Given the description of an element on the screen output the (x, y) to click on. 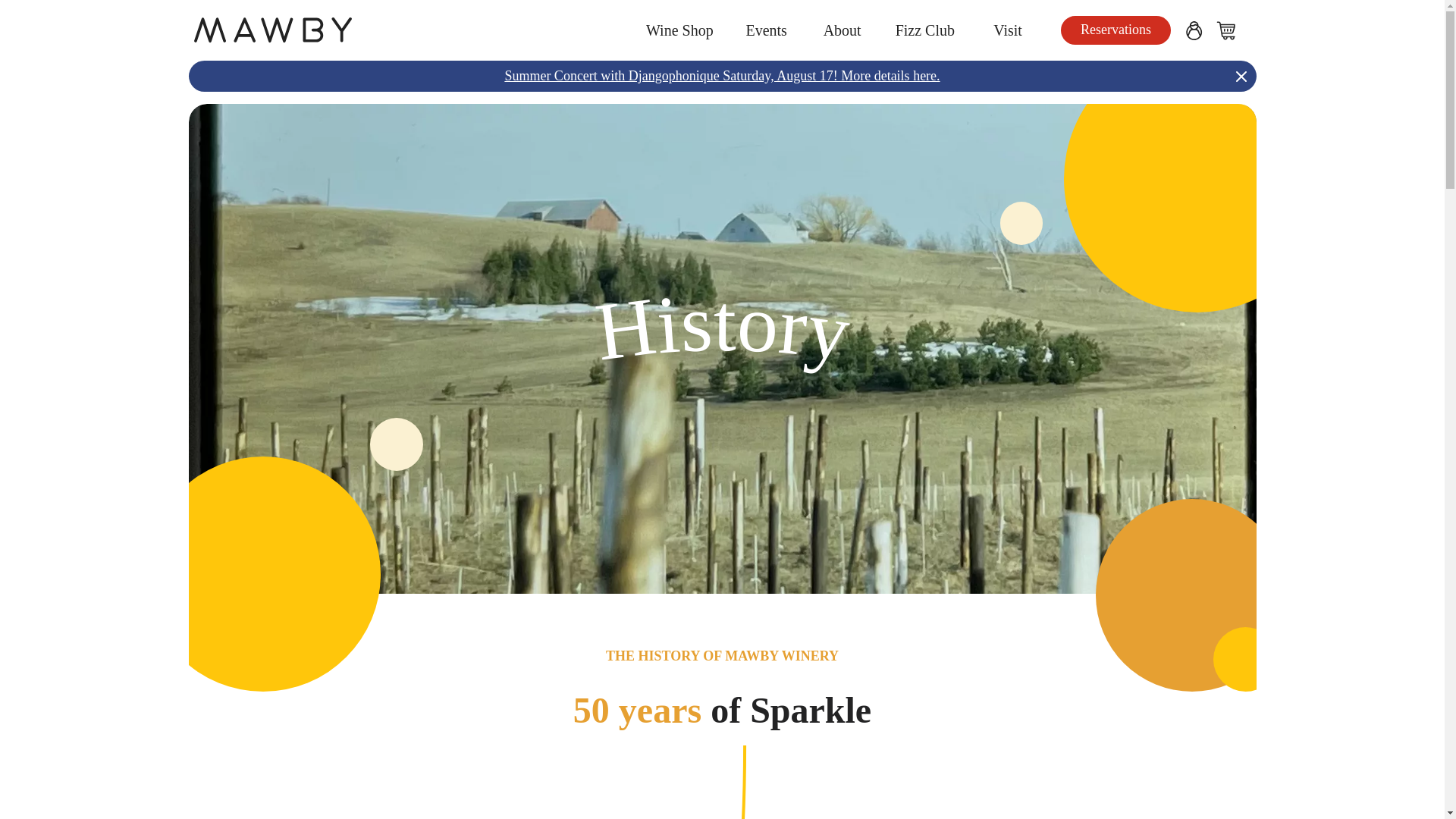
About (842, 30)
History (721, 384)
Visit (1007, 30)
Reservations (1115, 29)
Events (765, 30)
Wine Shop (679, 30)
Link to Home Page (411, 29)
Fizz Club (925, 30)
